Given the description of an element on the screen output the (x, y) to click on. 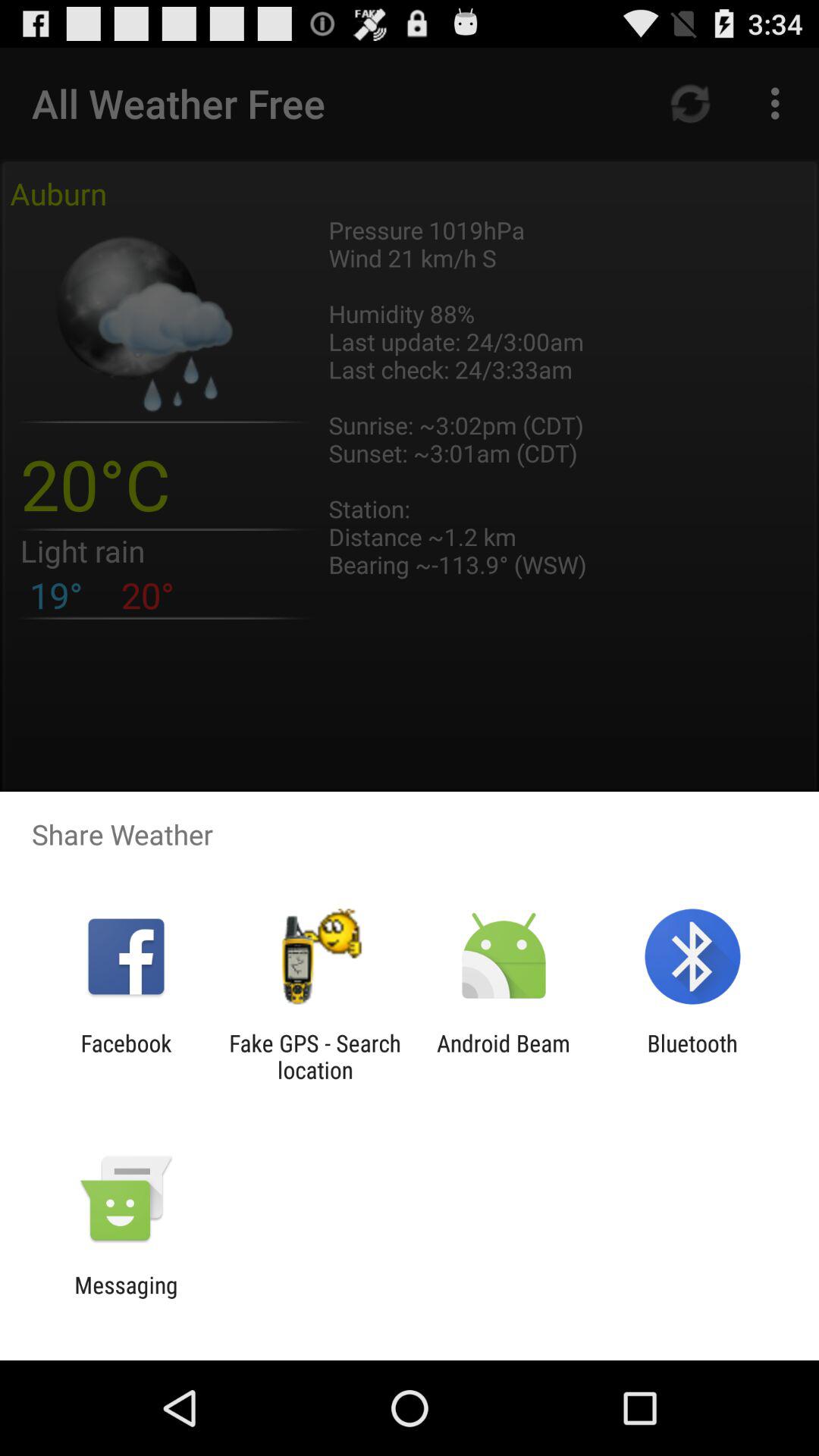
open the item next to bluetooth (503, 1056)
